Given the description of an element on the screen output the (x, y) to click on. 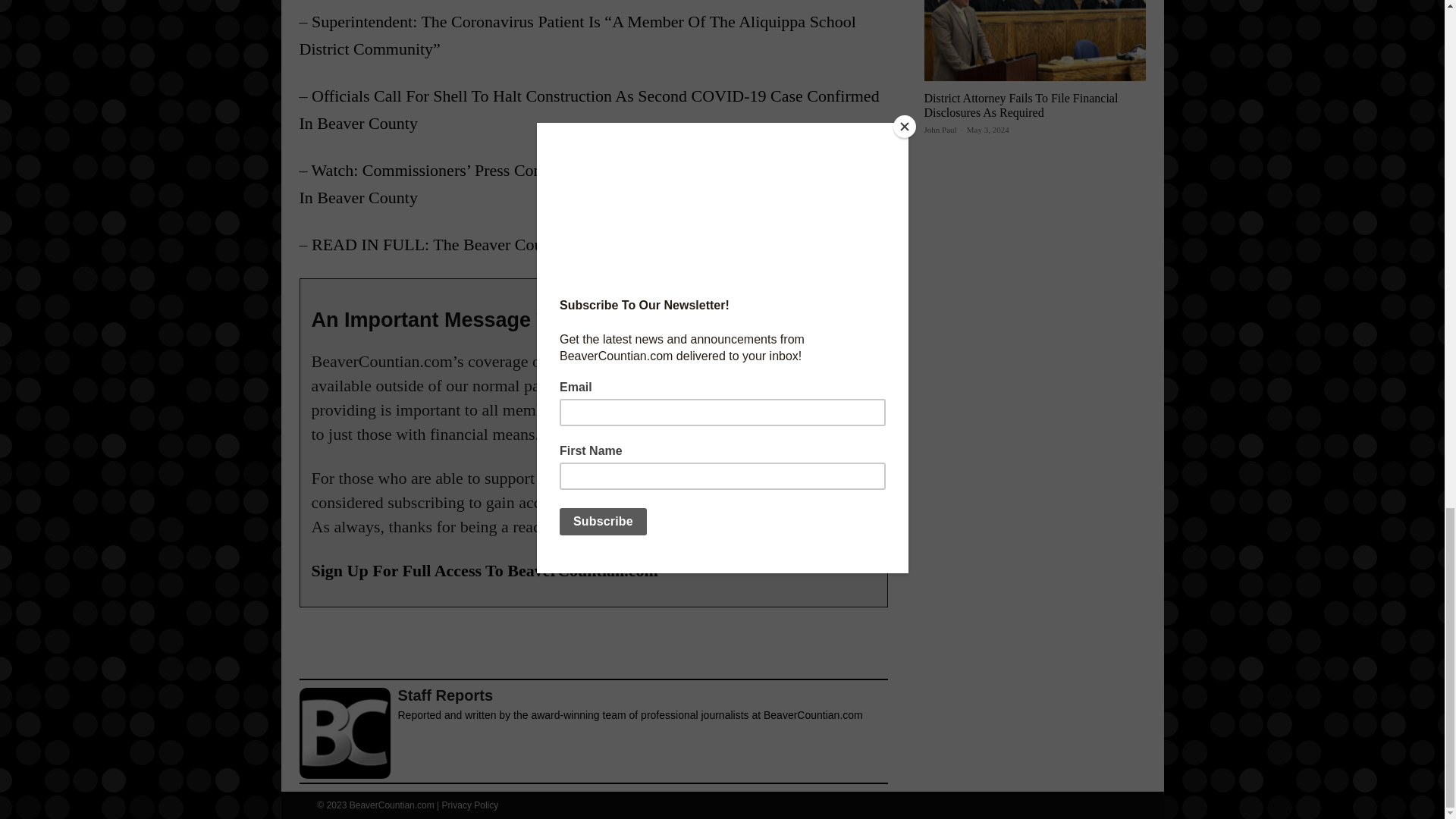
Privacy Policy (470, 805)
John Paul (939, 129)
Staff Reports (344, 732)
Staff Reports (629, 695)
Sign Up For Full Access To BeaverCountian.com (484, 570)
